Given the description of an element on the screen output the (x, y) to click on. 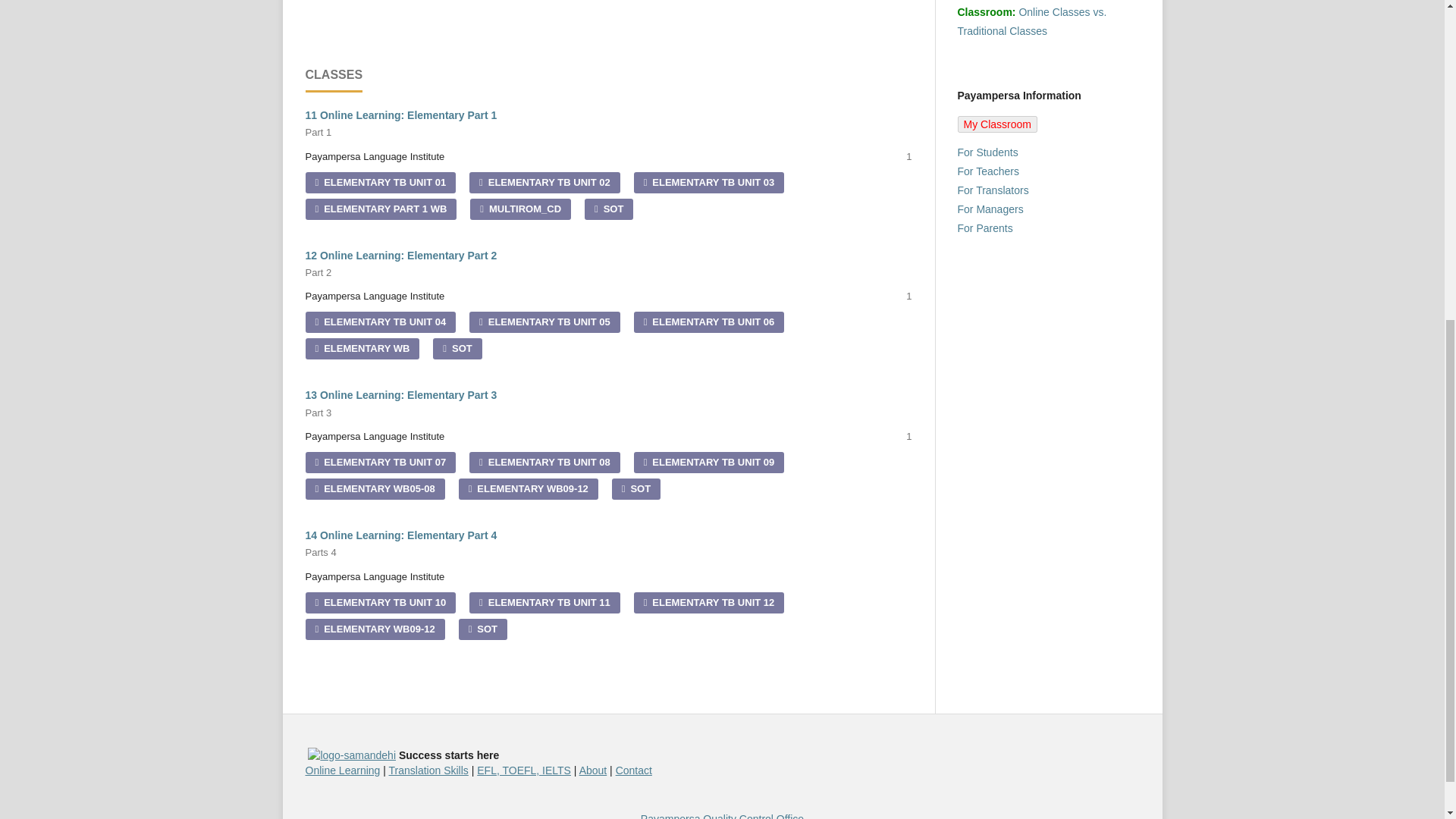
Advanced Translation Skills (428, 770)
Payampersa Online Learning (342, 770)
About Payampersa (593, 770)
Parents (983, 227)
For Managers (989, 209)
ELEMENTARY TB UNIT 01 (379, 182)
ELEMENTARY TB UNIT 02 (544, 182)
Contact Online Learning Office (633, 770)
Click to confirm (351, 755)
Translators (991, 190)
